Given the description of an element on the screen output the (x, y) to click on. 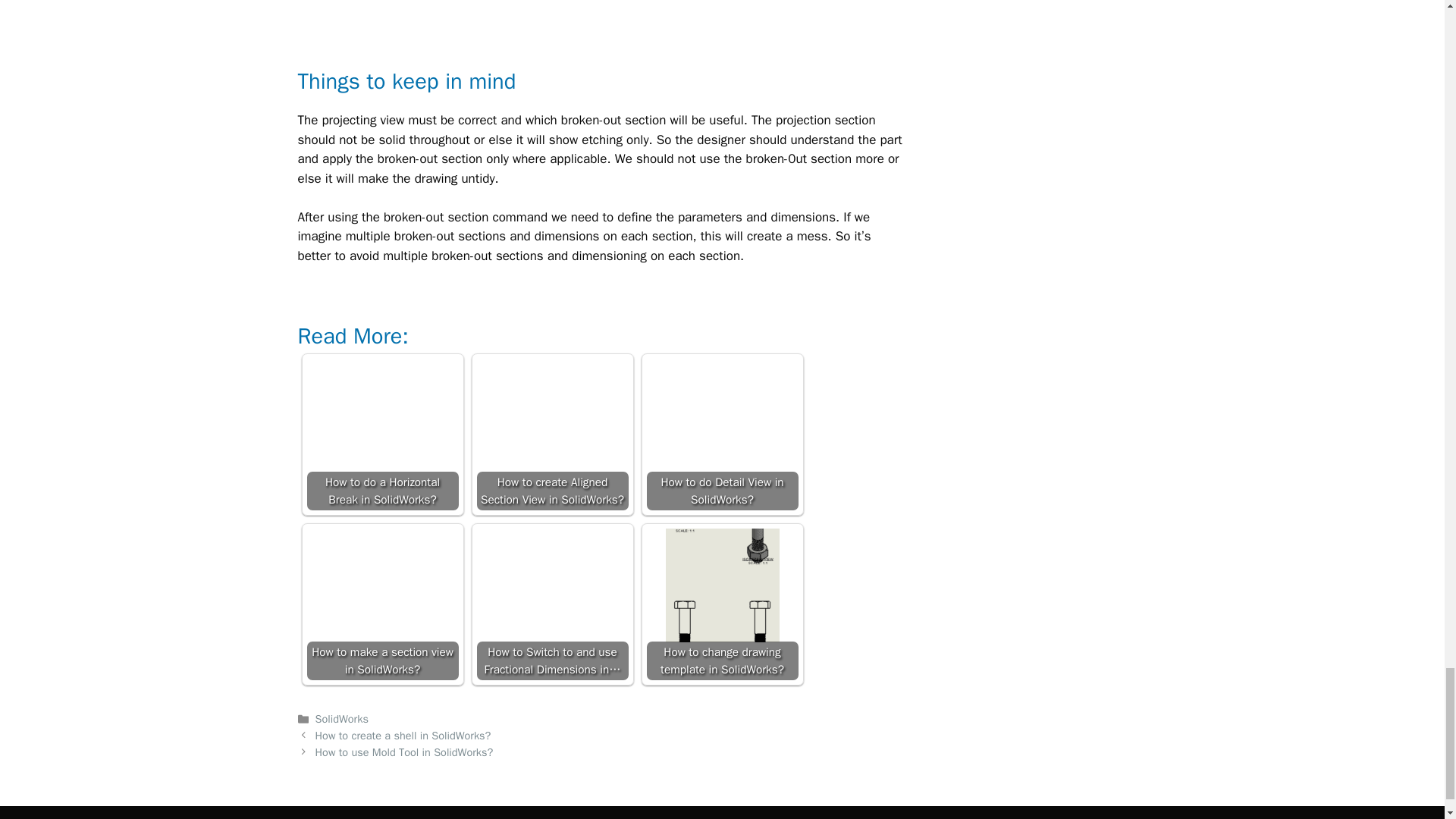
How to change drawing template in SolidWorks? (721, 604)
How to make a section view in SolidWorks? (382, 585)
How to change drawing template in SolidWorks? (721, 585)
How to use Mold Tool in SolidWorks? (404, 752)
How to make a section view in SolidWorks? (381, 604)
How to do Detail View in SolidWorks? (721, 434)
How to do Detail View in SolidWorks? (721, 415)
How to create Aligned Section View in SolidWorks? (553, 415)
How to do a Horizontal Break in SolidWorks? (381, 434)
How to create Aligned Section View in SolidWorks? (551, 434)
How to create a shell in SolidWorks? (403, 735)
How to do a Horizontal Break in SolidWorks? (382, 415)
SolidWorks (341, 718)
